Given the description of an element on the screen output the (x, y) to click on. 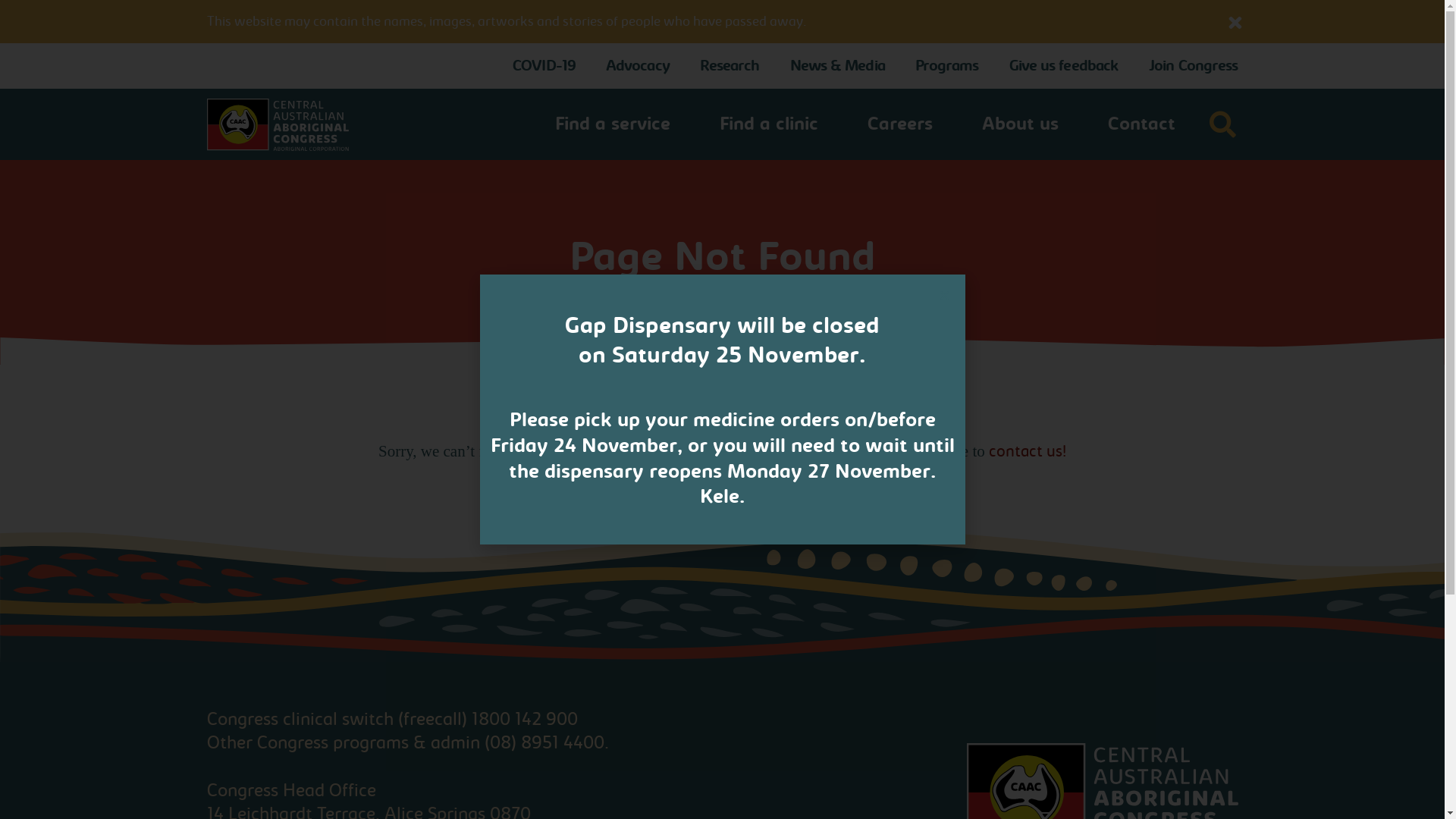
Programs Element type: text (947, 65)
COVID-19 Element type: text (543, 65)
Search Element type: text (762, 428)
Give us feedback Element type: text (1064, 65)
News & Media Element type: text (837, 65)
contact us! Element type: text (1027, 451)
Find a clinic Element type: text (768, 124)
Join Congress Element type: text (1192, 65)
Research Element type: text (729, 65)
Find a service Element type: text (612, 124)
Contact Element type: text (1141, 124)
Careers Element type: text (899, 124)
Advocacy Element type: text (637, 65)
About us Element type: text (1019, 124)
